Given the description of an element on the screen output the (x, y) to click on. 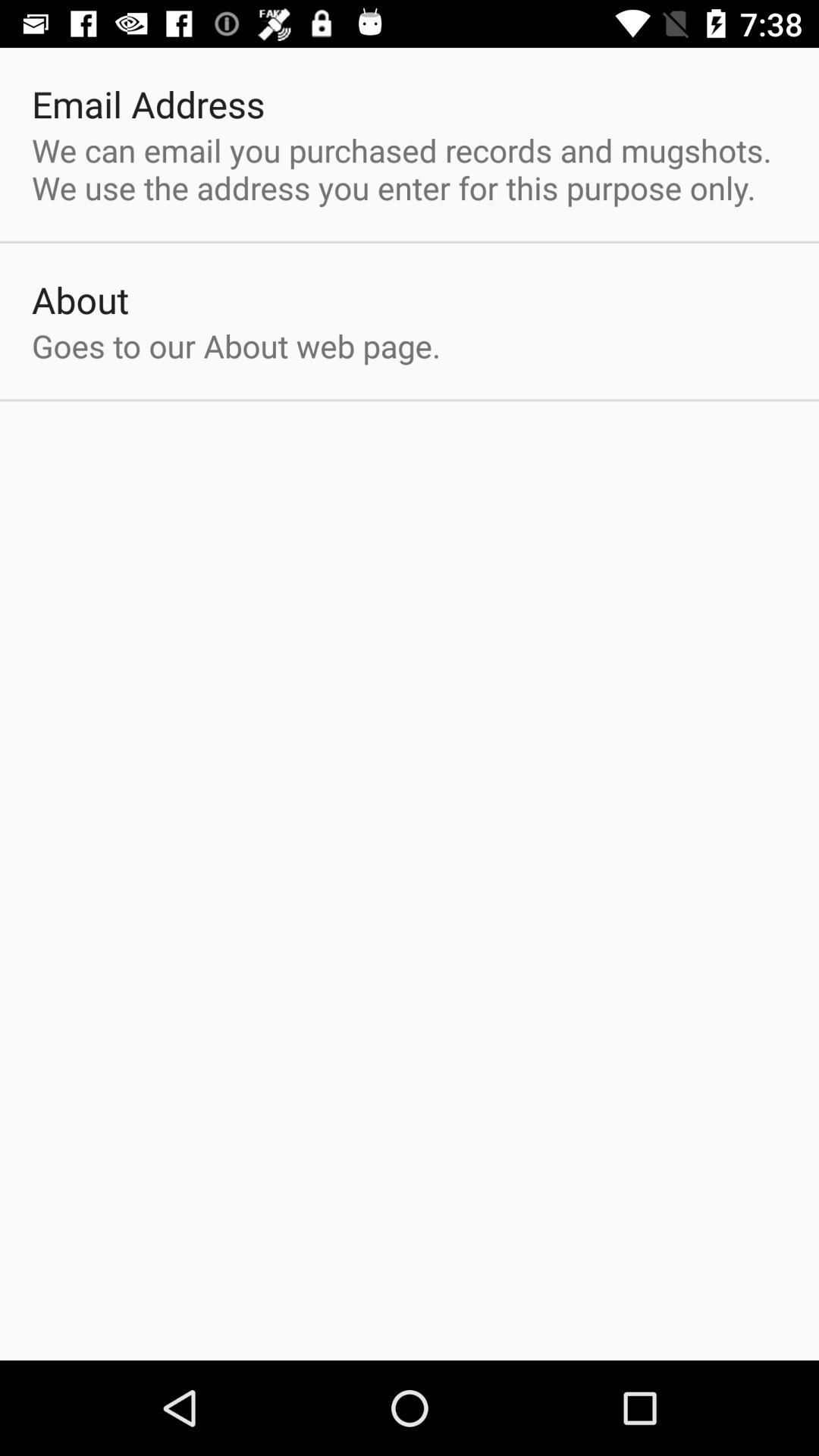
open the icon above about icon (409, 168)
